Given the description of an element on the screen output the (x, y) to click on. 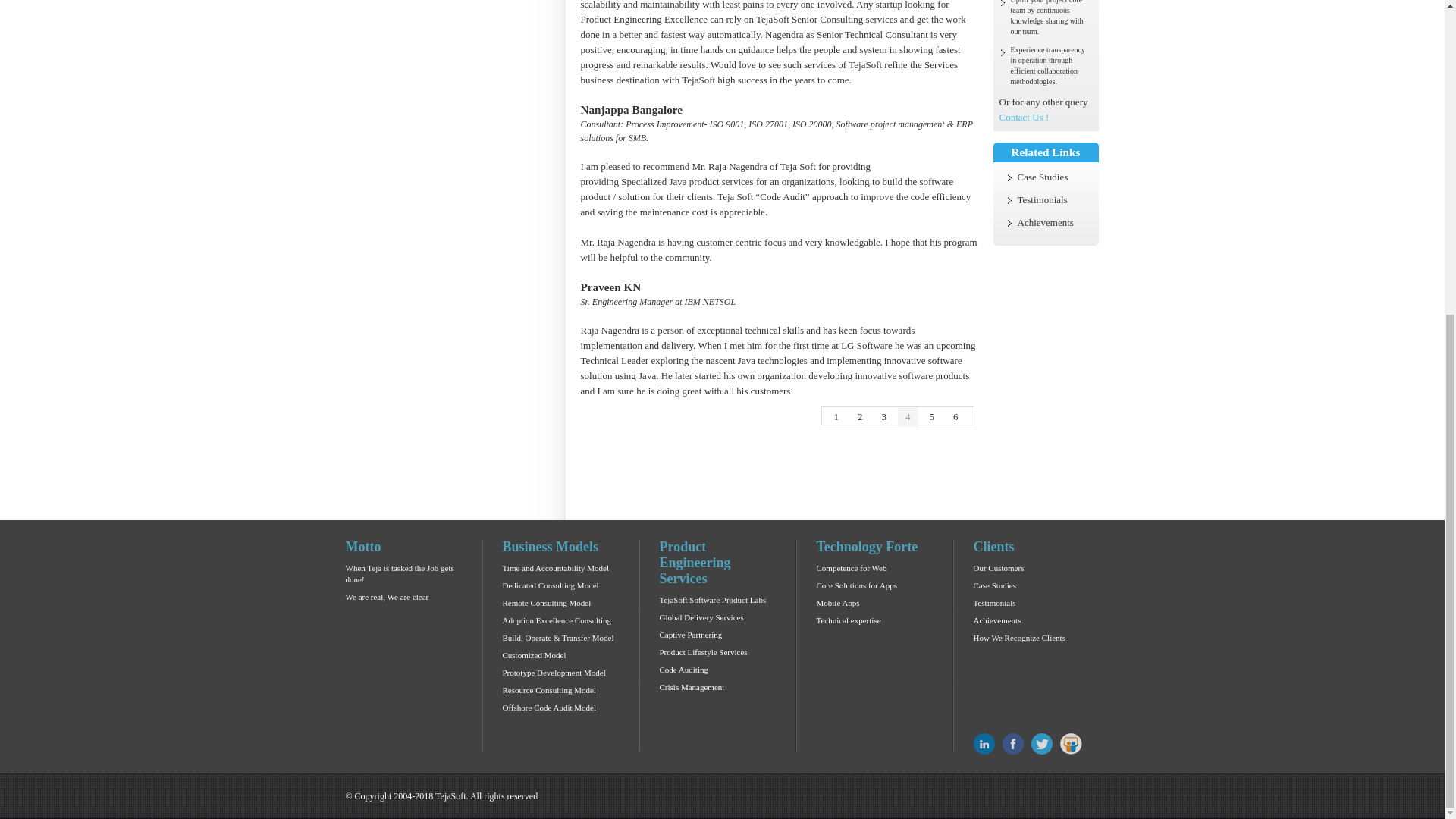
Find Us on Slide Share (1070, 743)
Find Us on Twitter (1041, 743)
Find Us on Facebook (1013, 743)
Find Us on Linkedin (984, 743)
